Given the description of an element on the screen output the (x, y) to click on. 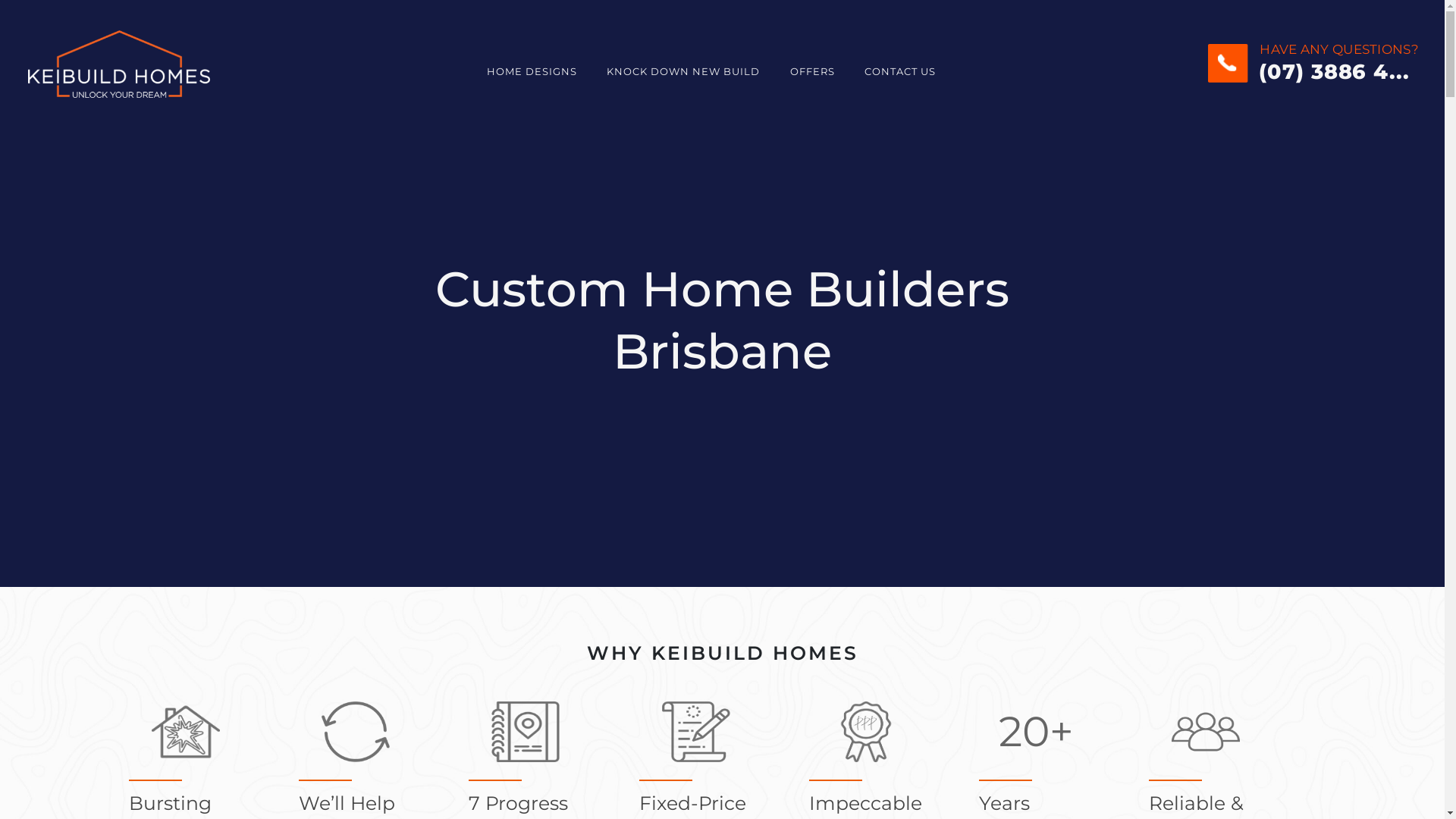
KNOCK DOWN NEW BUILD Element type: text (679, 71)
HOME DESIGNS Element type: text (527, 71)
CONTACT US Element type: text (896, 71)
OFFERS Element type: text (807, 71)
(07) 3886 4... Element type: text (1308, 72)
